Given the description of an element on the screen output the (x, y) to click on. 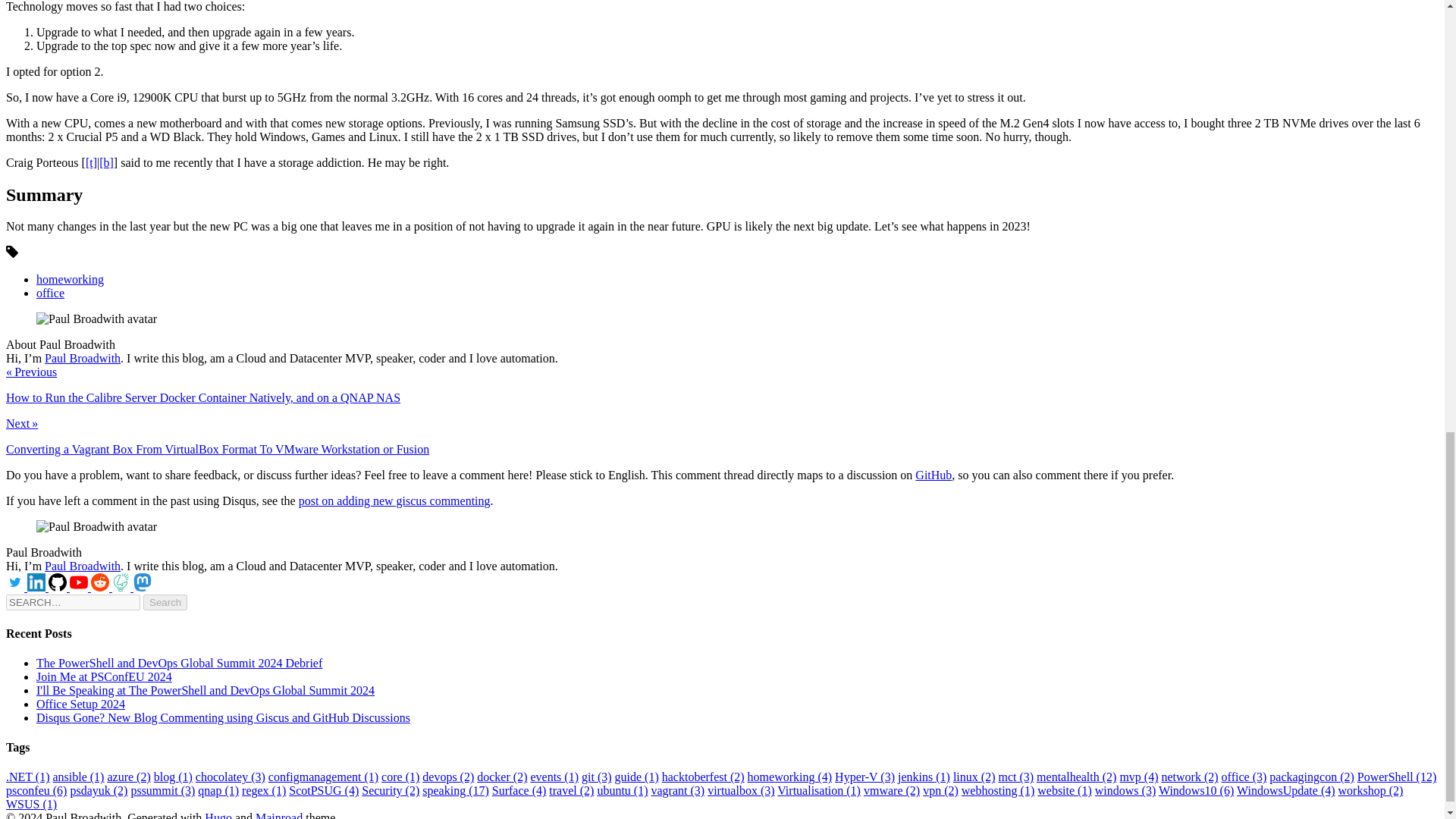
YouTube (79, 586)
ansible (77, 776)
GitHub (933, 474)
azure (127, 776)
.NET (27, 776)
Paul Broadwith (82, 358)
blog (173, 776)
devops (448, 776)
Search (164, 602)
GitHub (58, 586)
core (400, 776)
Mastodon (142, 586)
LinkedIn (37, 586)
Twitter (16, 586)
post on adding new giscus commenting (394, 500)
